Given the description of an element on the screen output the (x, y) to click on. 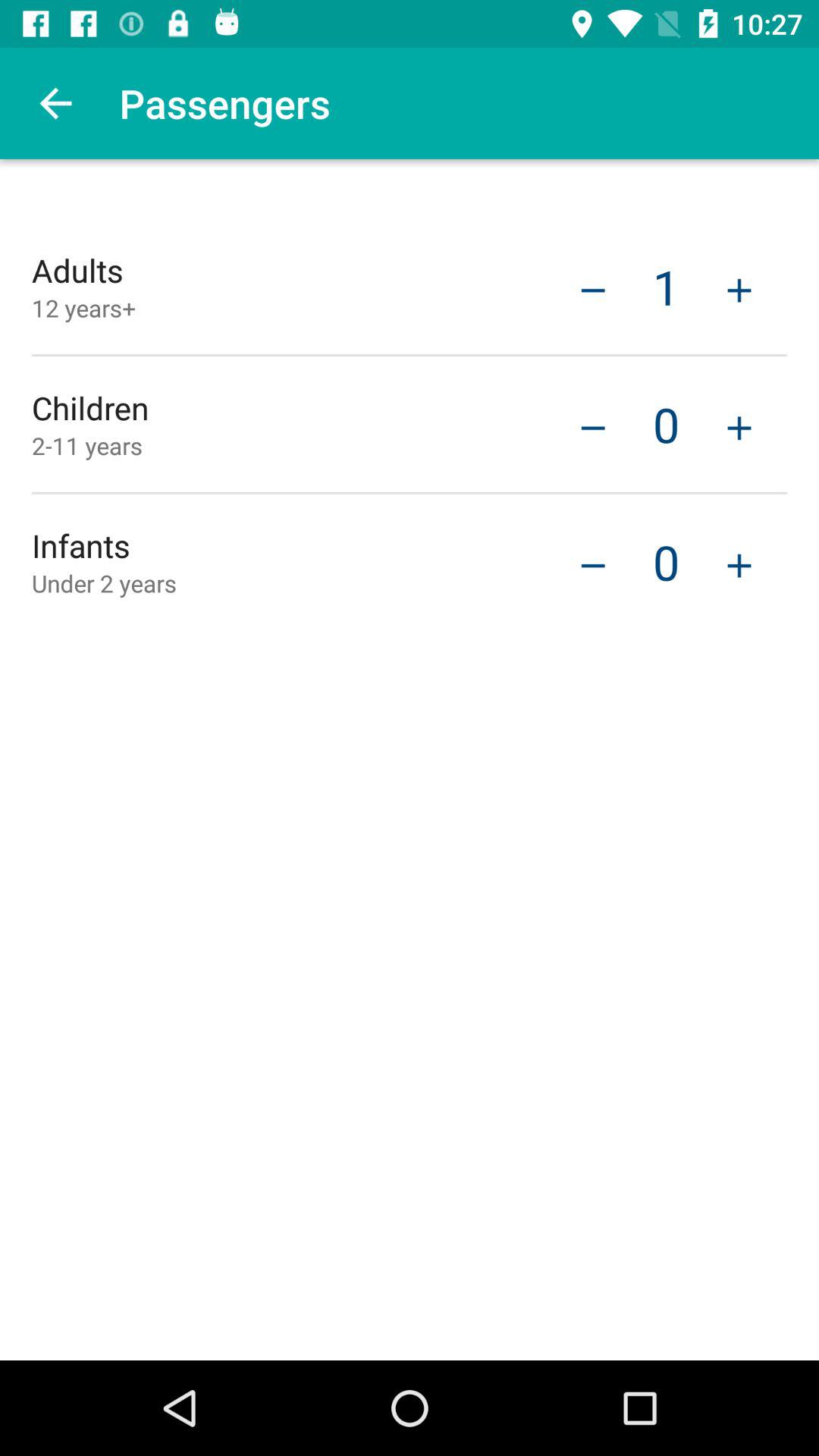
launch item to the right of the under 2 years (592, 563)
